Given the description of an element on the screen output the (x, y) to click on. 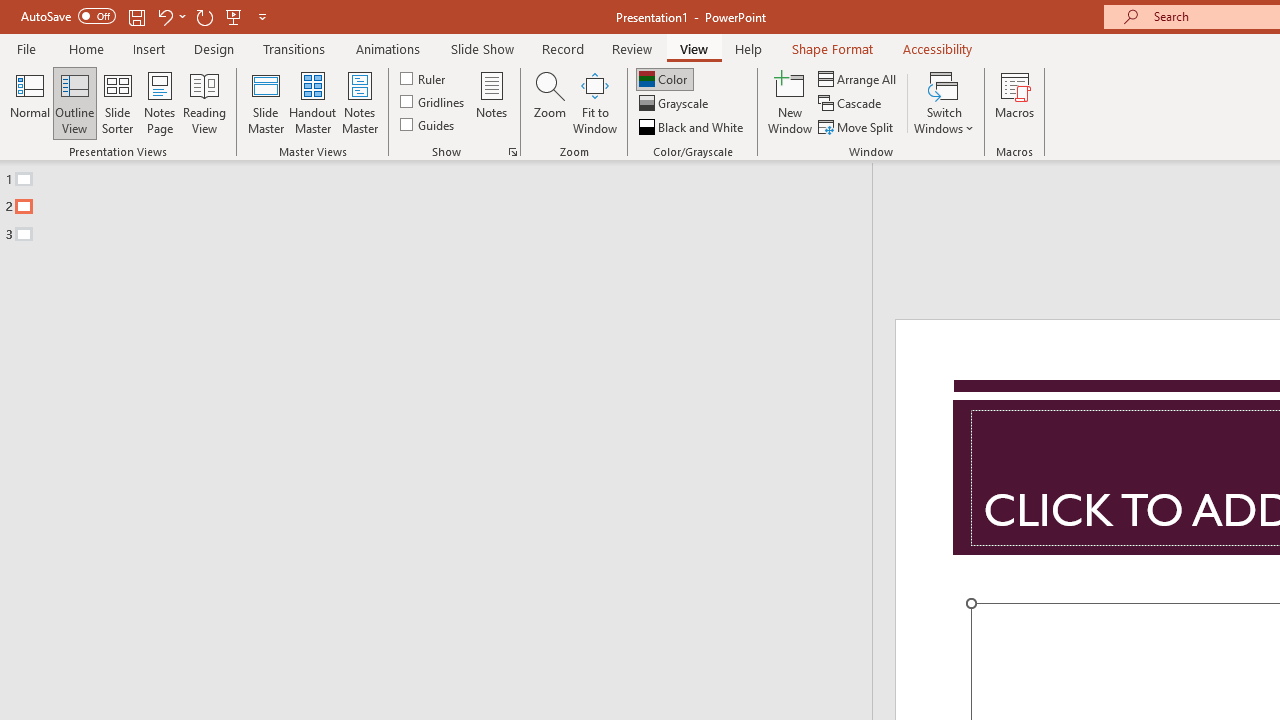
Macros (1014, 102)
